Given the description of an element on the screen output the (x, y) to click on. 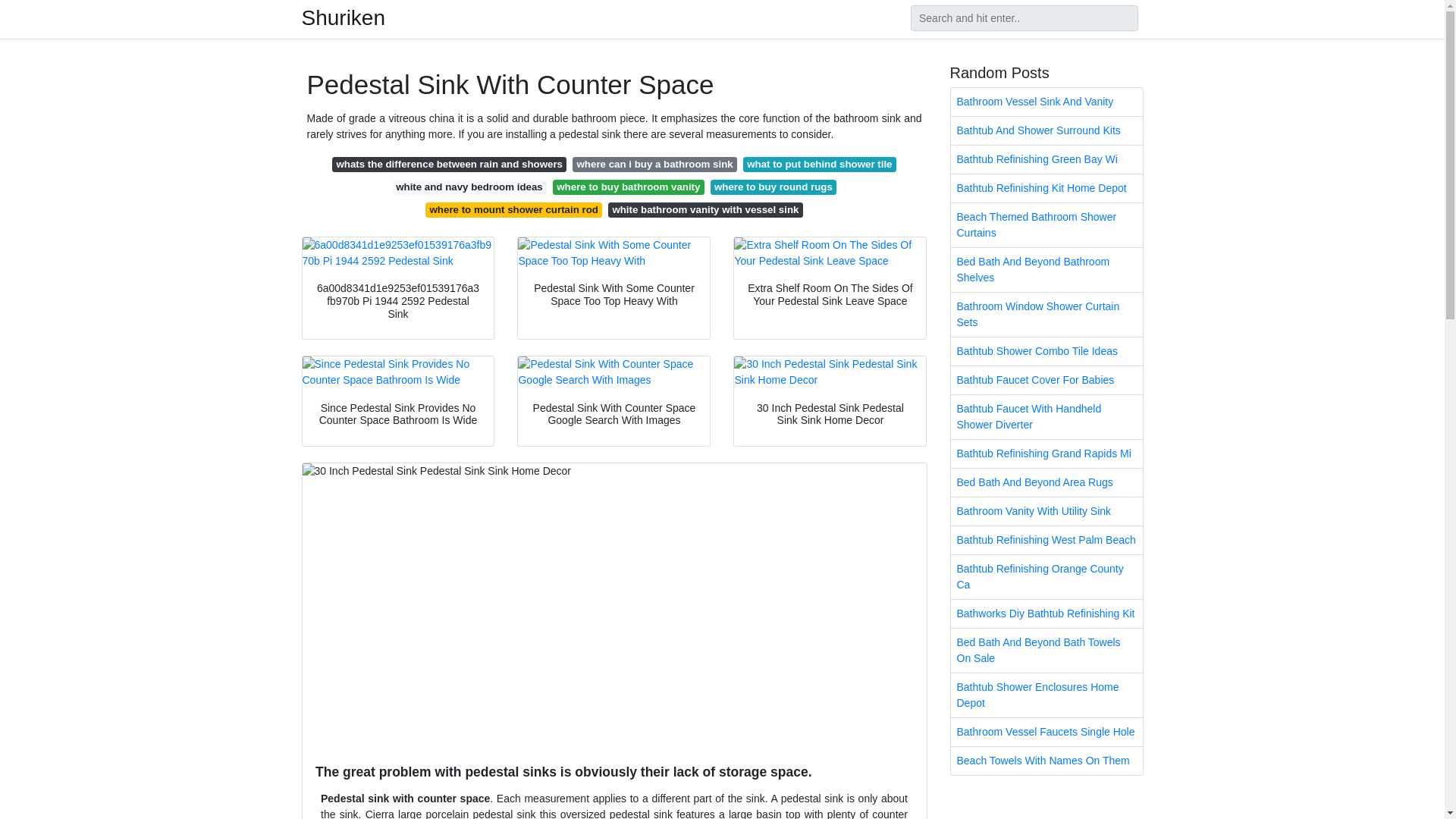
where can i buy a bathroom sink (654, 164)
Shuriken (343, 18)
Bathtub And Shower Surround Kits (1046, 130)
Bathtub Shower Combo Tile Ideas (1046, 351)
white and navy bedroom ideas (469, 186)
Bathtub Refinishing Kit Home Depot (1046, 188)
whats the difference between rain and showers (448, 164)
Bathtub Faucet Cover For Babies (1046, 379)
where to mount shower curtain rod (513, 209)
Bathroom Window Shower Curtain Sets (1046, 314)
Bathroom Vessel Sink And Vanity (1046, 101)
where to buy round rugs (773, 186)
where to buy bathroom vanity (628, 186)
Shuriken (343, 18)
Bathtub Refinishing Green Bay Wi (1046, 159)
